Given the description of an element on the screen output the (x, y) to click on. 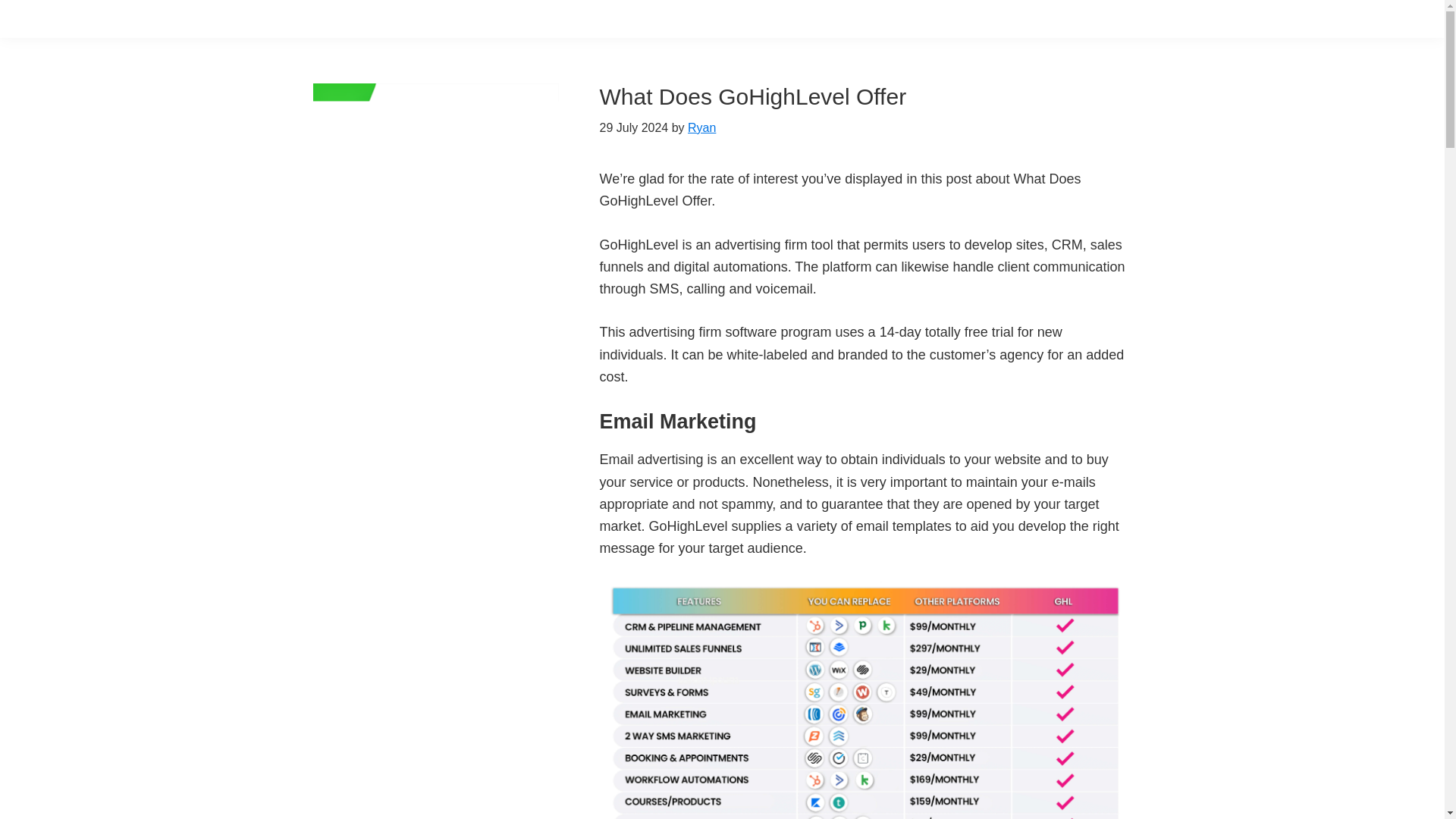
Ryan (701, 127)
What Does GoHighLevel Offer (751, 96)
